Given the description of an element on the screen output the (x, y) to click on. 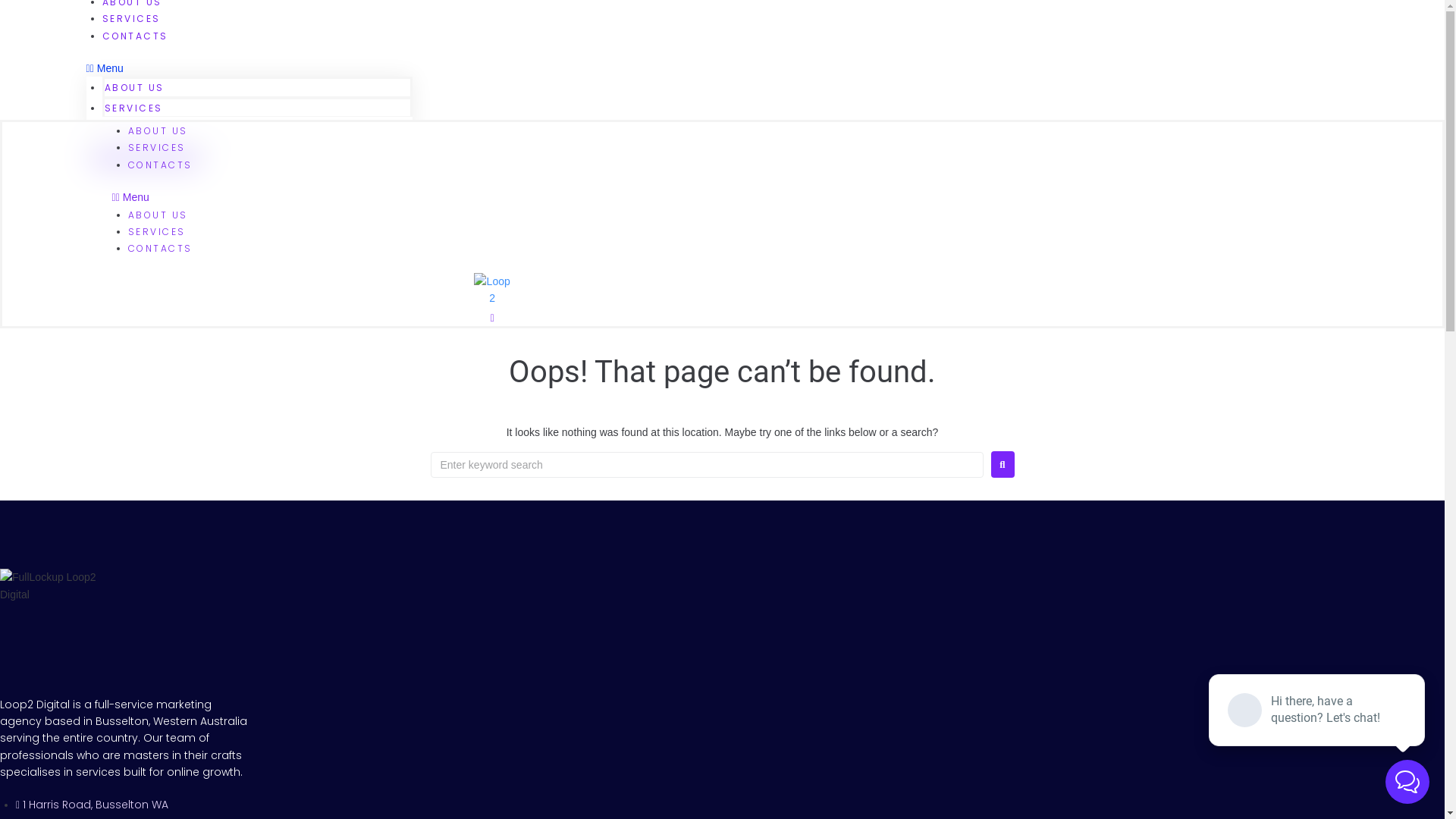
SERVICES Element type: text (156, 147)
CONTACTS Element type: text (135, 35)
CONTACTS Element type: text (160, 164)
SERVICES Element type: text (133, 107)
CONTACTS Element type: text (160, 247)
ABOUT US Element type: text (134, 87)
CONTACTS Element type: text (135, 125)
FREE CONSULTATION Element type: text (144, 158)
SERVICES Element type: text (131, 18)
SERVICES Element type: text (156, 231)
ABOUT US Element type: text (158, 213)
ABOUT US Element type: text (158, 130)
